Given the description of an element on the screen output the (x, y) to click on. 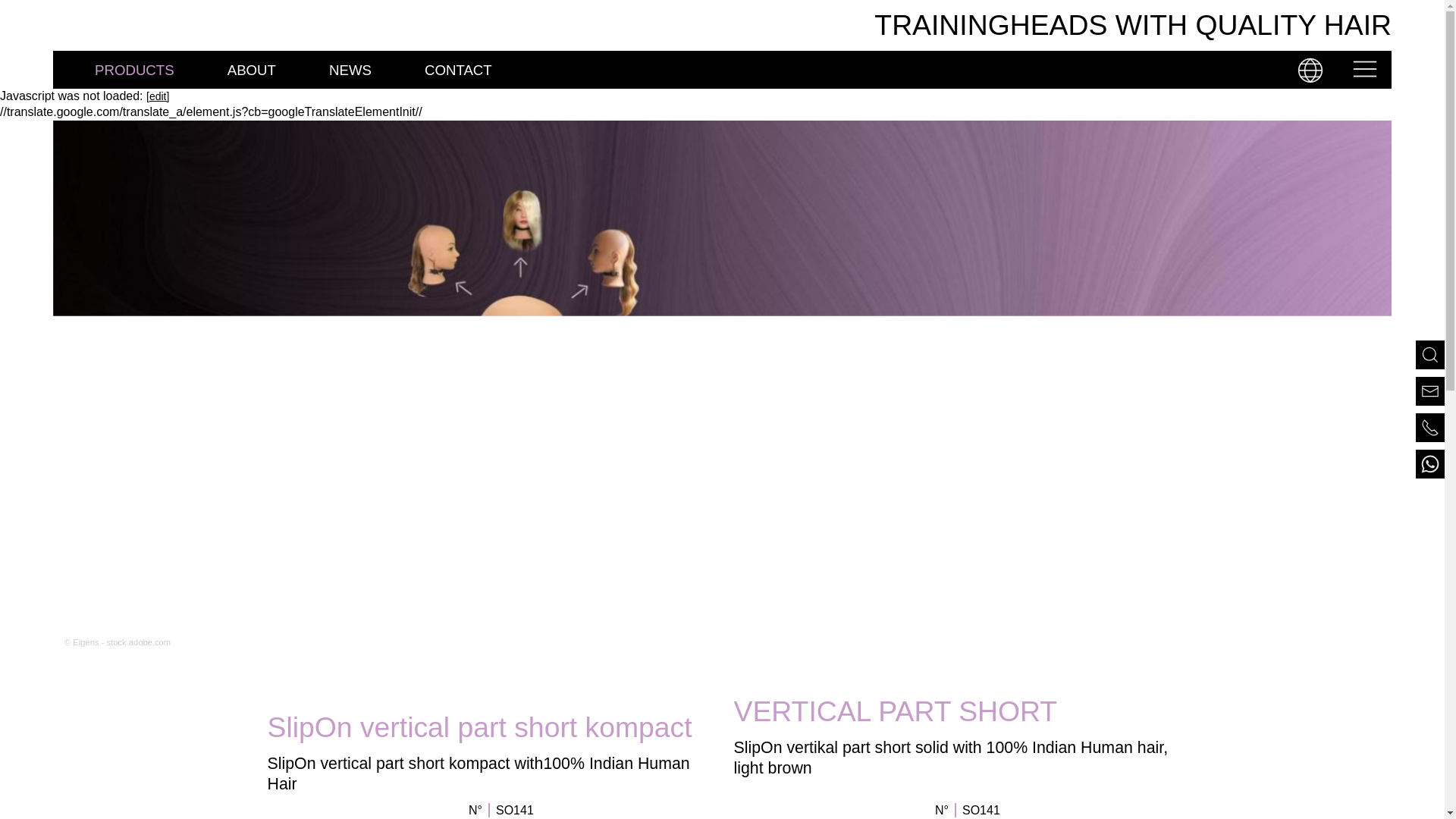
NEWS (349, 69)
MORE INFORMATIONS (1259, 587)
PRODUCTS (134, 53)
ABOUT (250, 69)
CONTACT (458, 69)
